Given the description of an element on the screen output the (x, y) to click on. 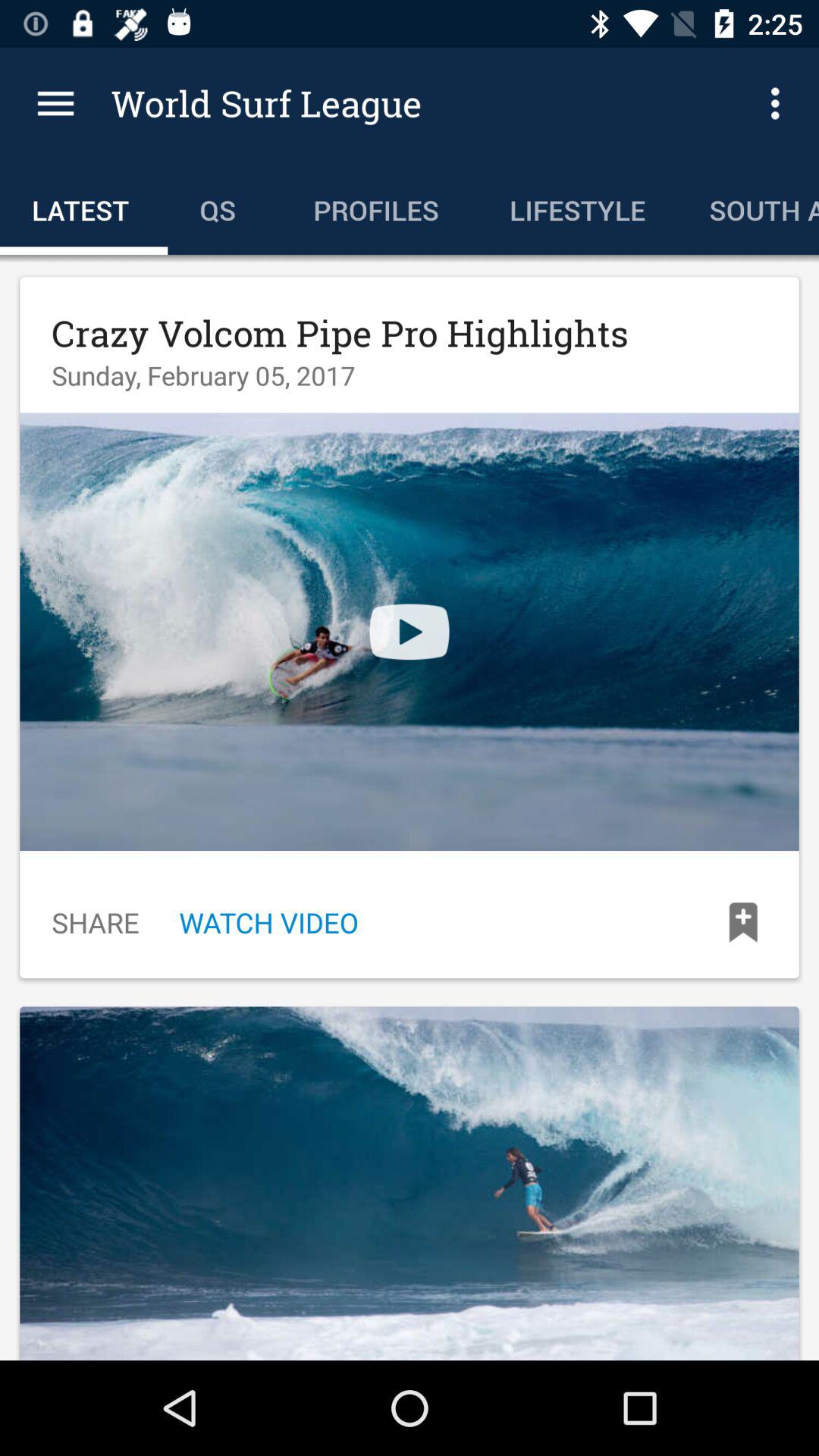
jump until lifestyle icon (577, 206)
